Given the description of an element on the screen output the (x, y) to click on. 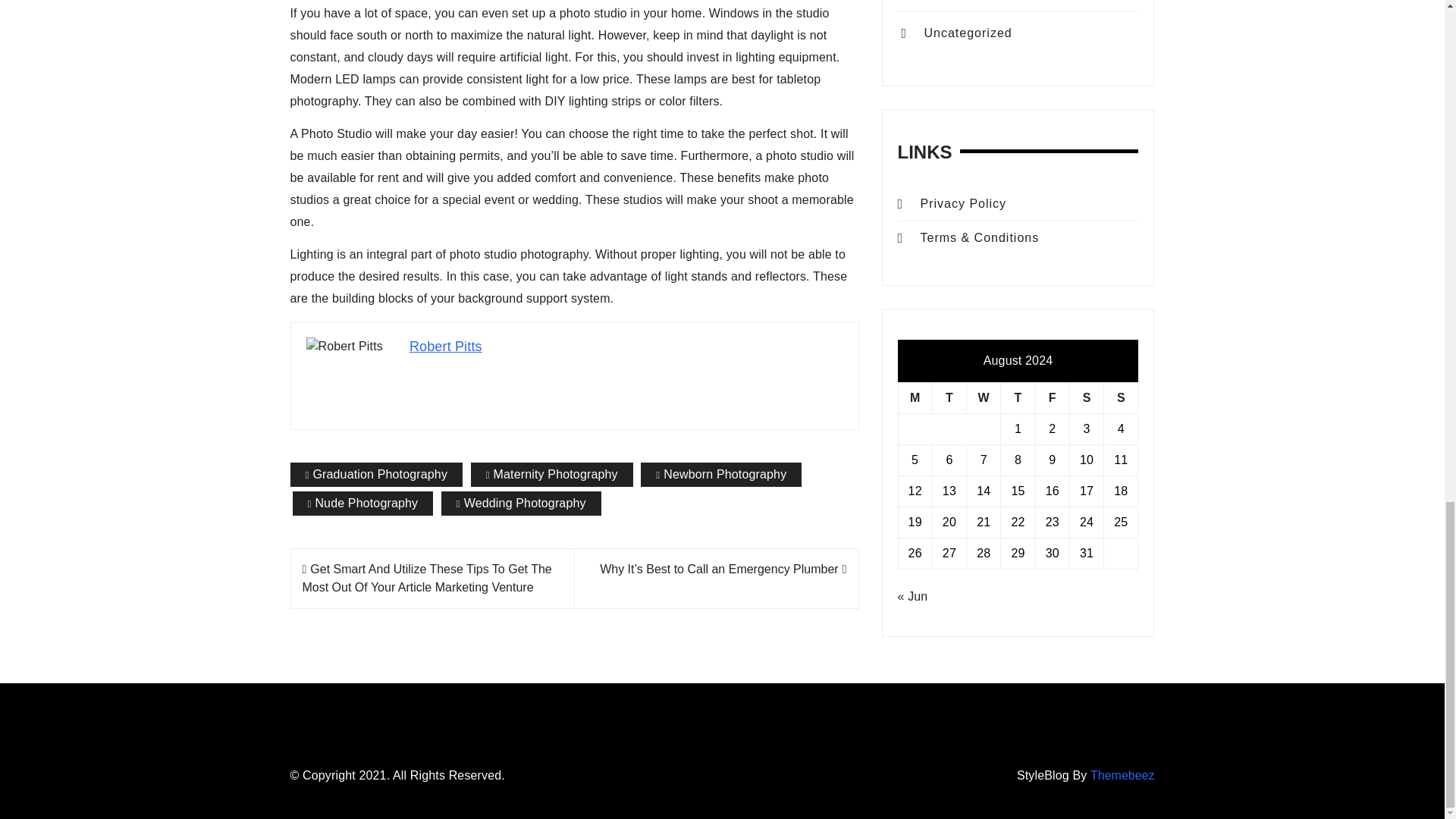
Newborn Photography (721, 474)
Monday (914, 397)
Sunday (1120, 397)
Robert Pitts (445, 346)
Wedding Photography (521, 503)
Thursday (1018, 397)
Tuesday (948, 397)
Maternity Photography (551, 474)
Nude Photography (362, 503)
